Given the description of an element on the screen output the (x, y) to click on. 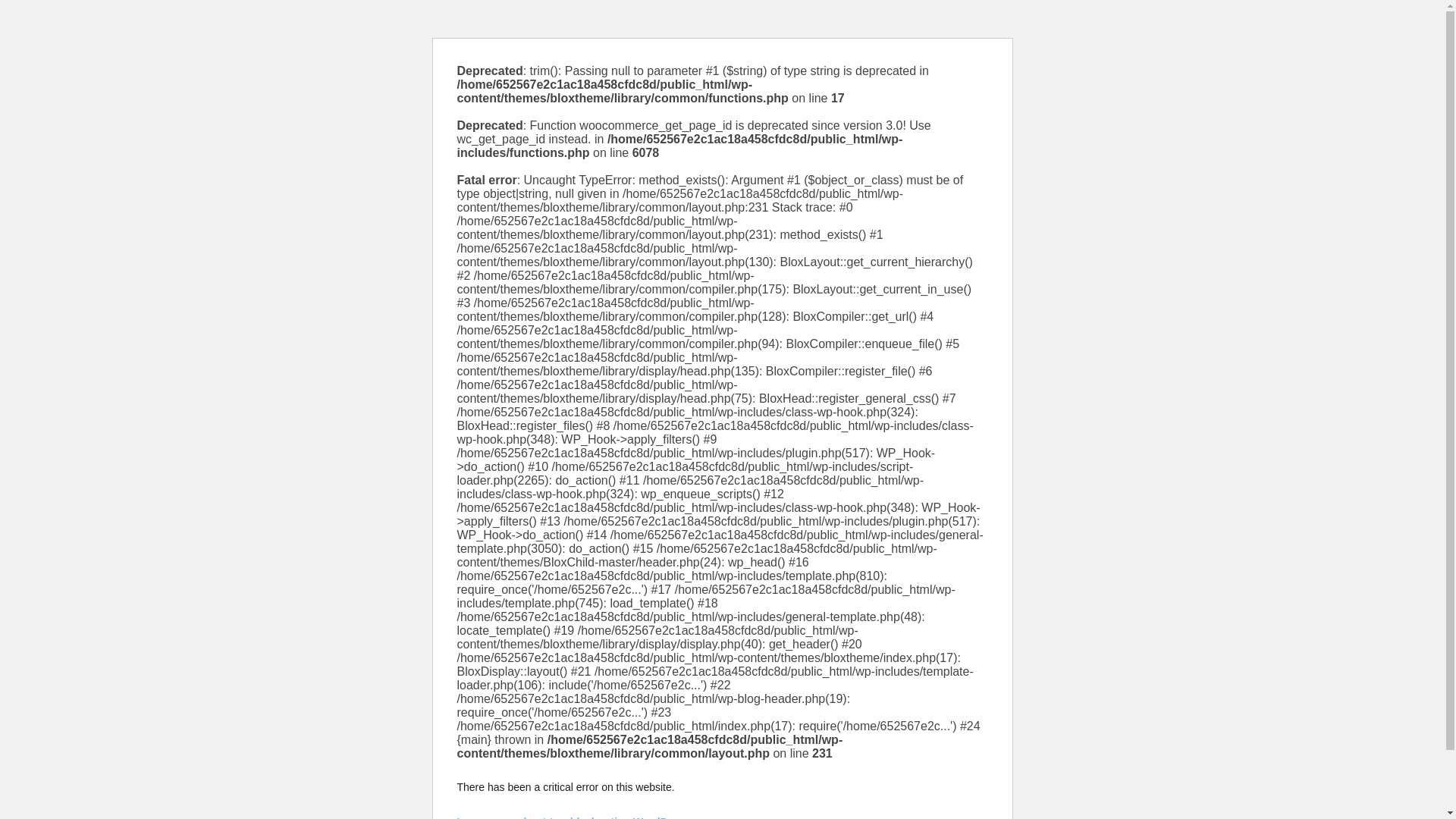
Learn more about troubleshooting WordPress. (574, 817)
